Given the description of an element on the screen output the (x, y) to click on. 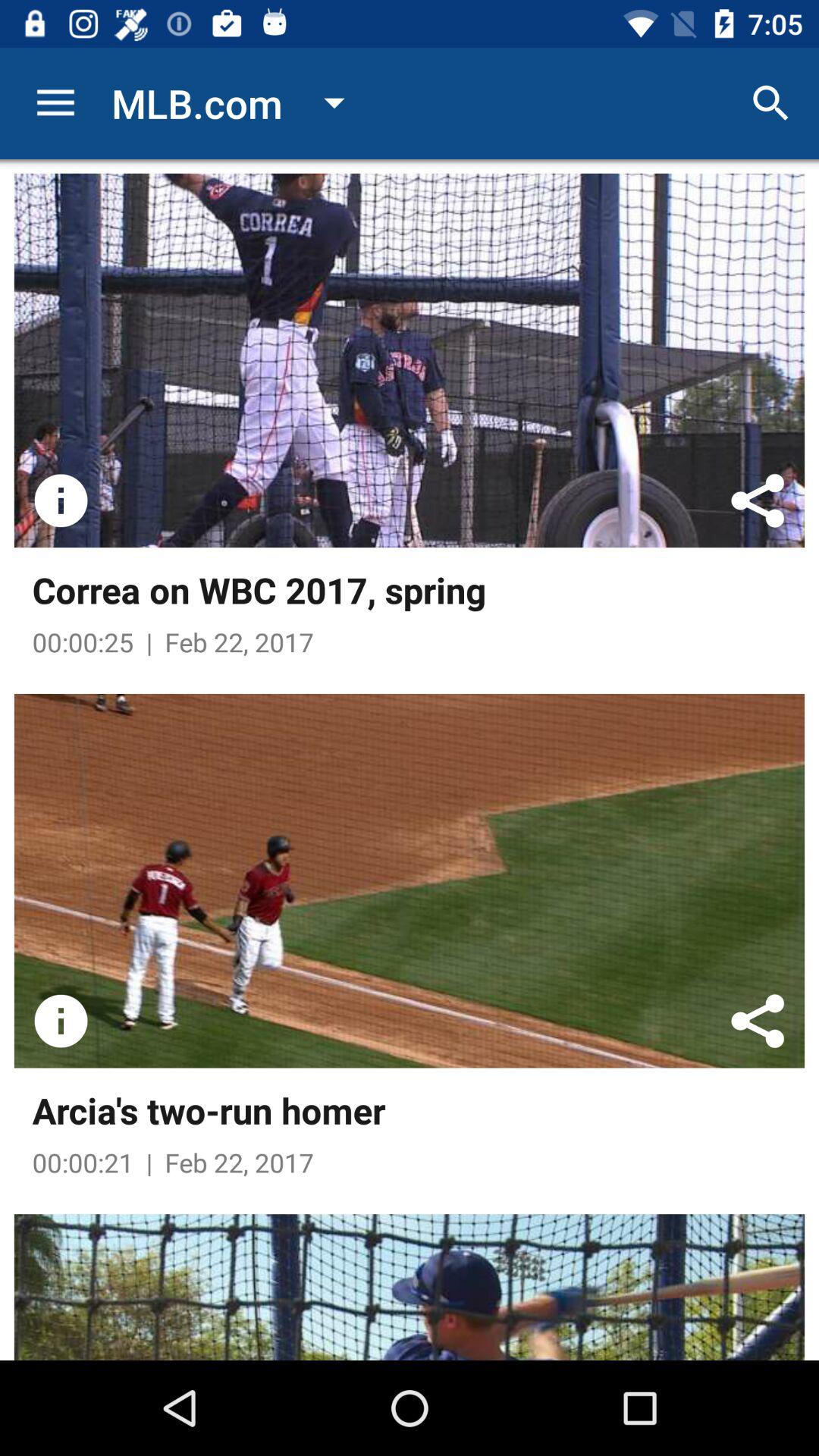
share the video (757, 500)
